Given the description of an element on the screen output the (x, y) to click on. 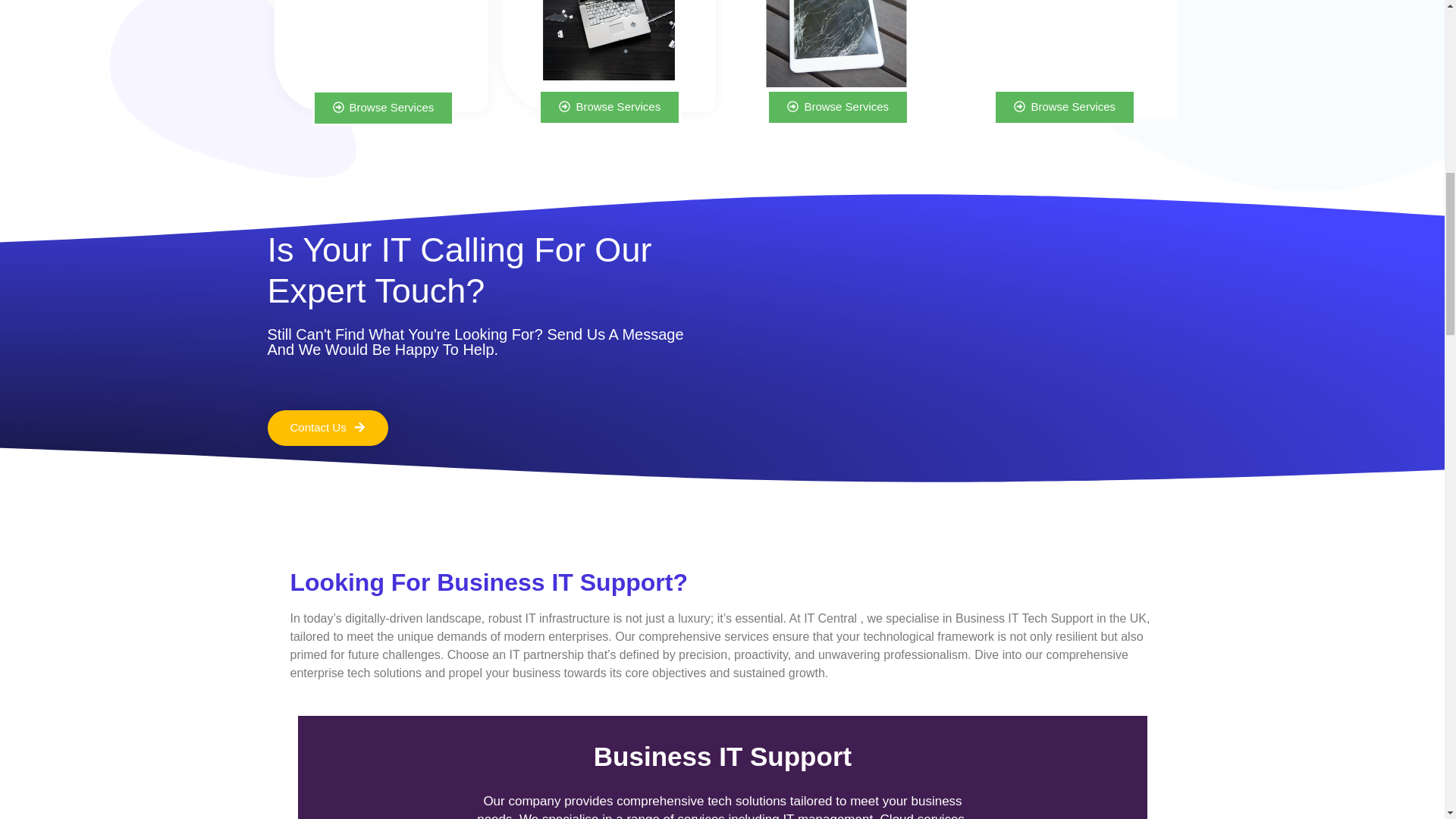
Browse Services (383, 108)
Browse Services (609, 107)
